Given the description of an element on the screen output the (x, y) to click on. 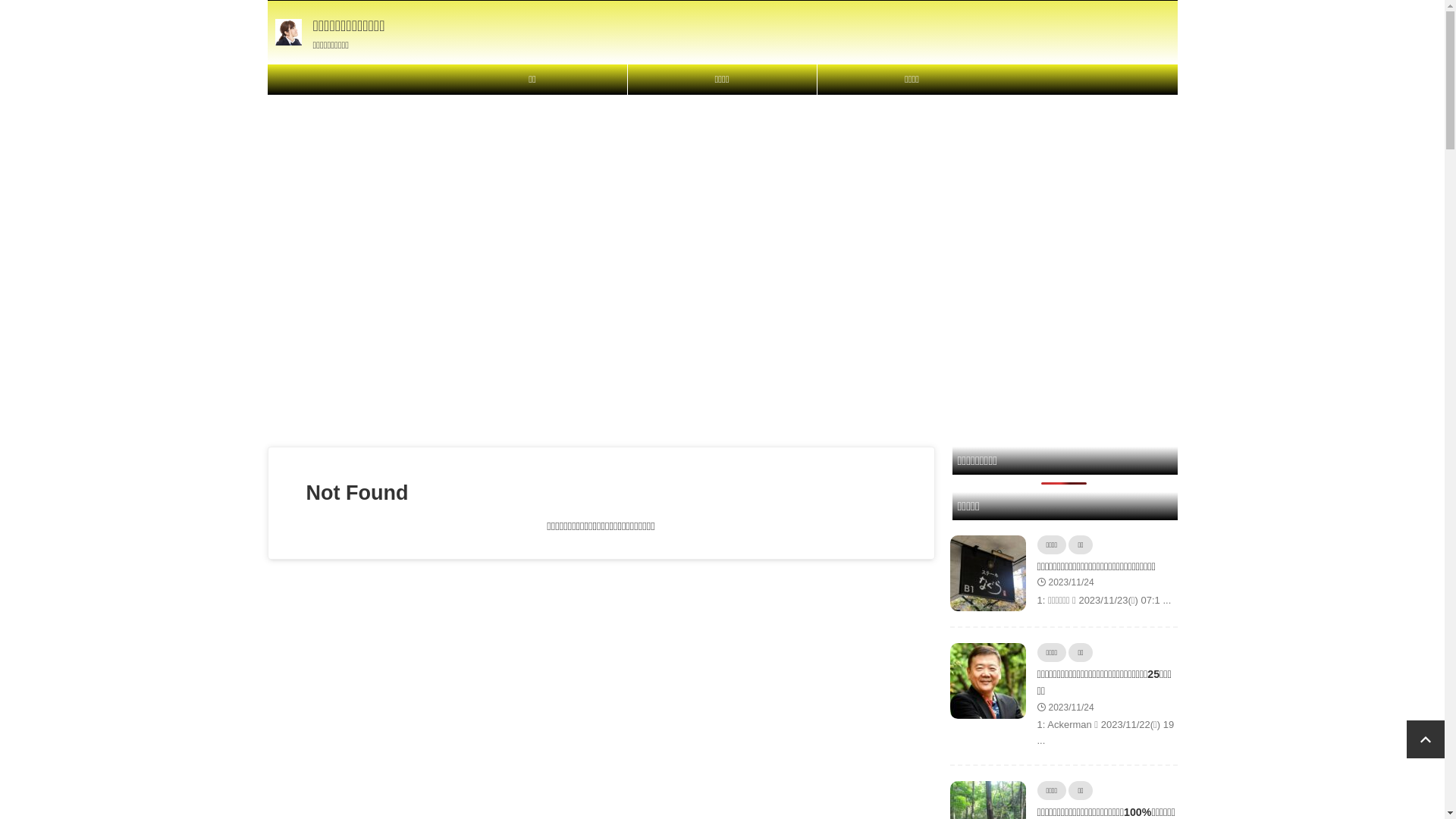
Advertisement Element type: hover (721, 201)
